Given the description of an element on the screen output the (x, y) to click on. 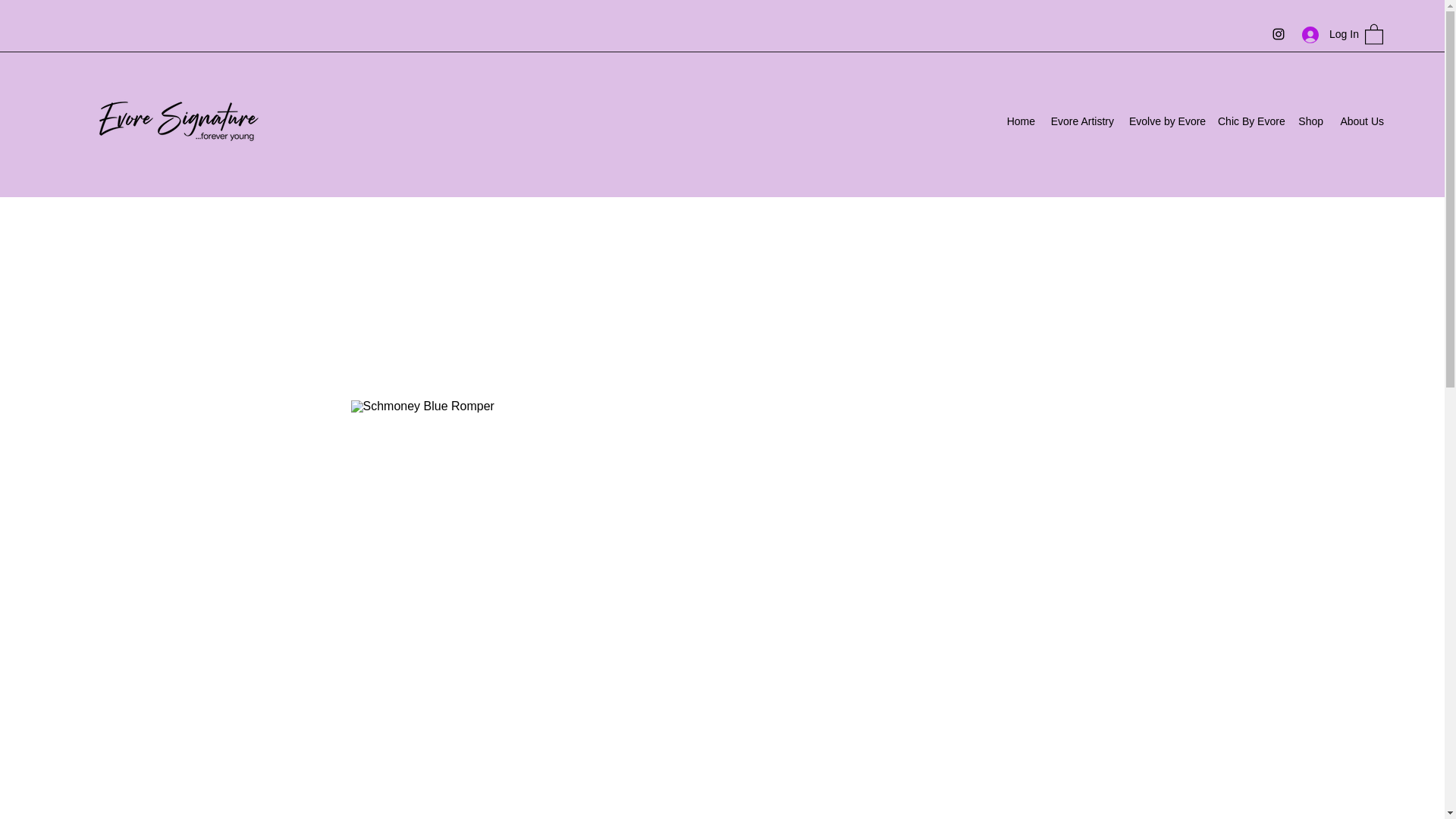
Log In (1325, 34)
Home (1020, 120)
Evolve by Evore (1165, 120)
